Given the description of an element on the screen output the (x, y) to click on. 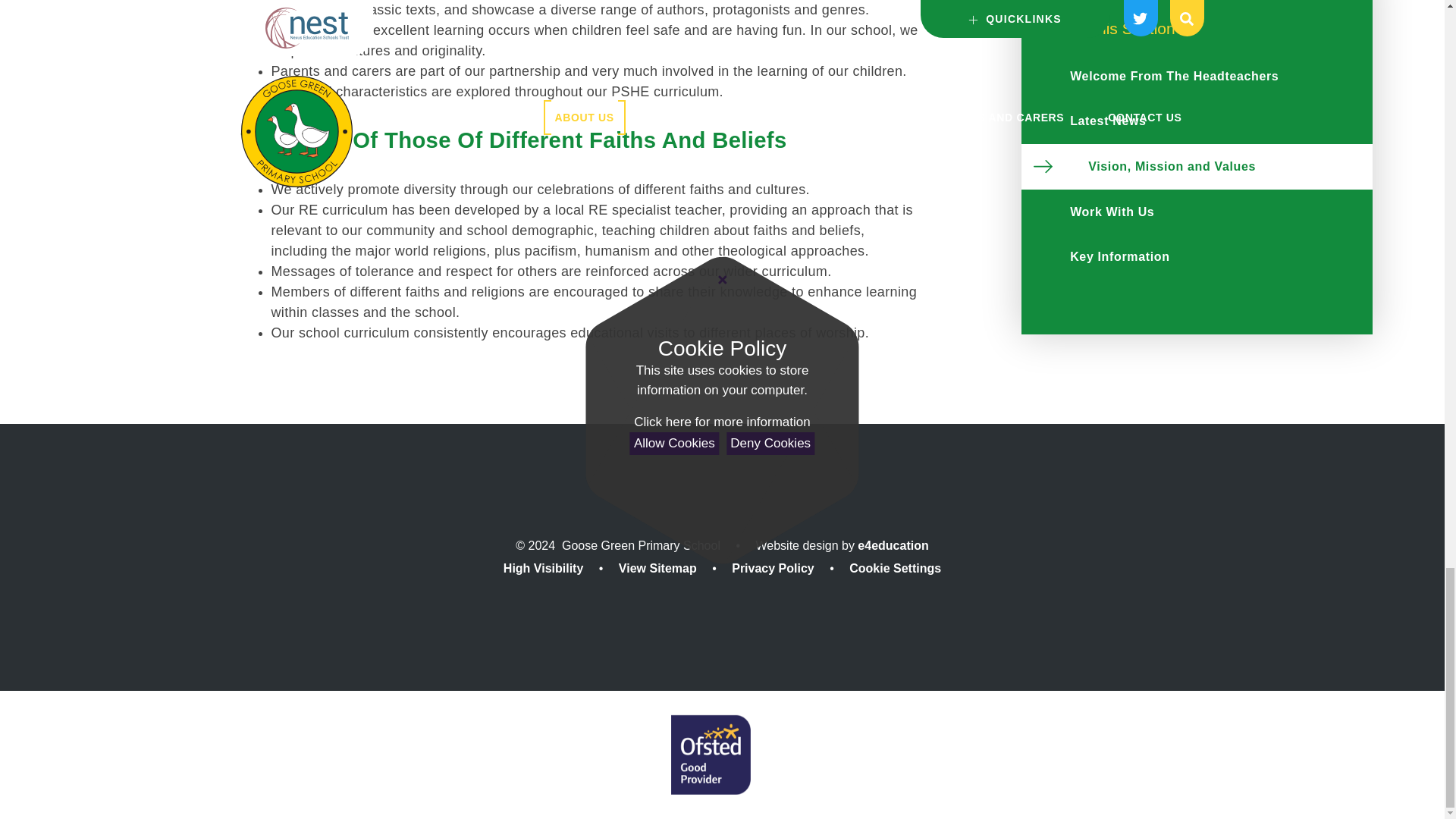
Cookie Settings (894, 567)
